Given the description of an element on the screen output the (x, y) to click on. 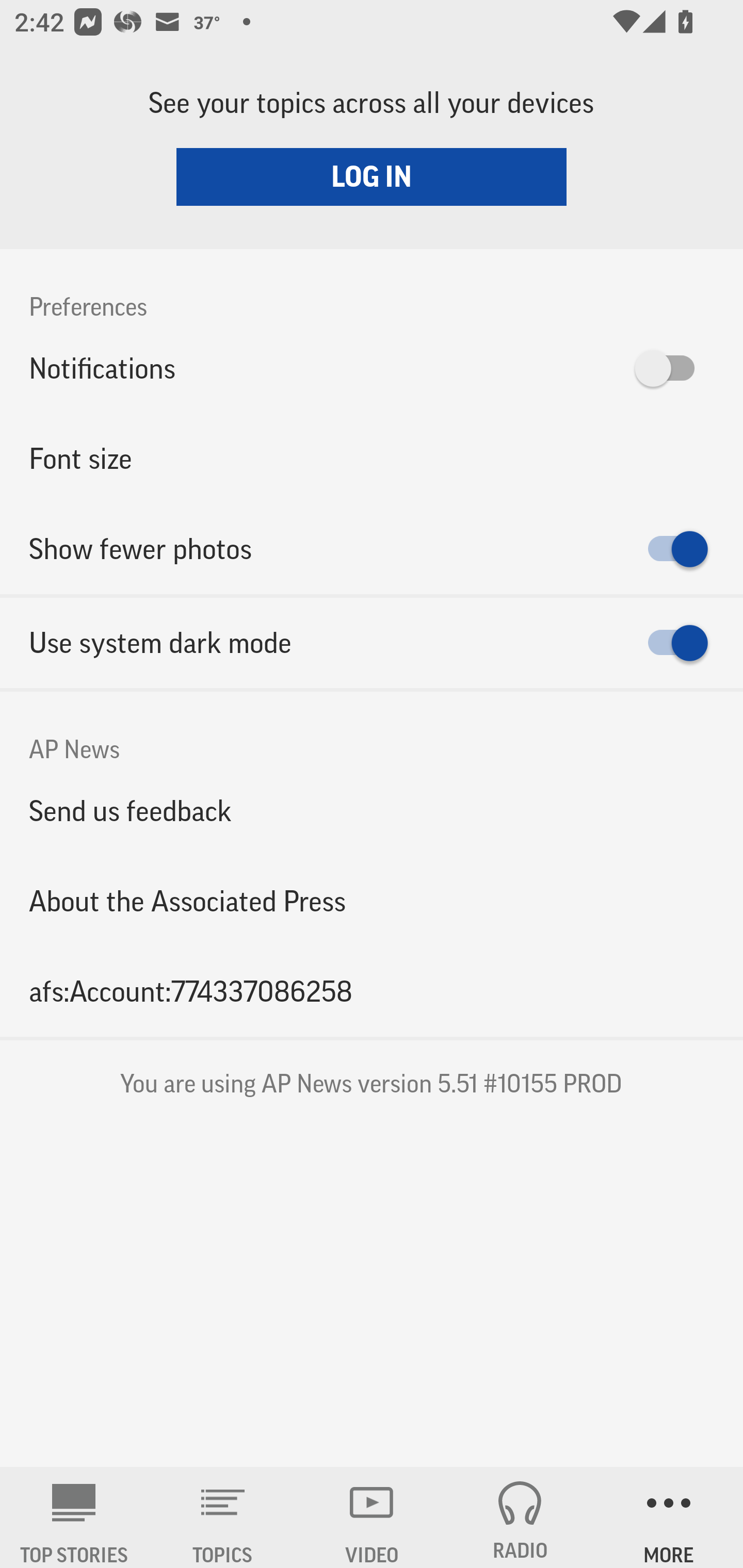
LOG IN (371, 176)
Notifications (371, 368)
Font size (371, 458)
Show fewer photos (371, 548)
Use system dark mode (371, 642)
Send us feedback (371, 810)
About the Associated Press (371, 901)
afs:Account:774337086258 (371, 991)
AP News TOP STORIES (74, 1517)
TOPICS (222, 1517)
VIDEO (371, 1517)
RADIO (519, 1517)
MORE (668, 1517)
